Given the description of an element on the screen output the (x, y) to click on. 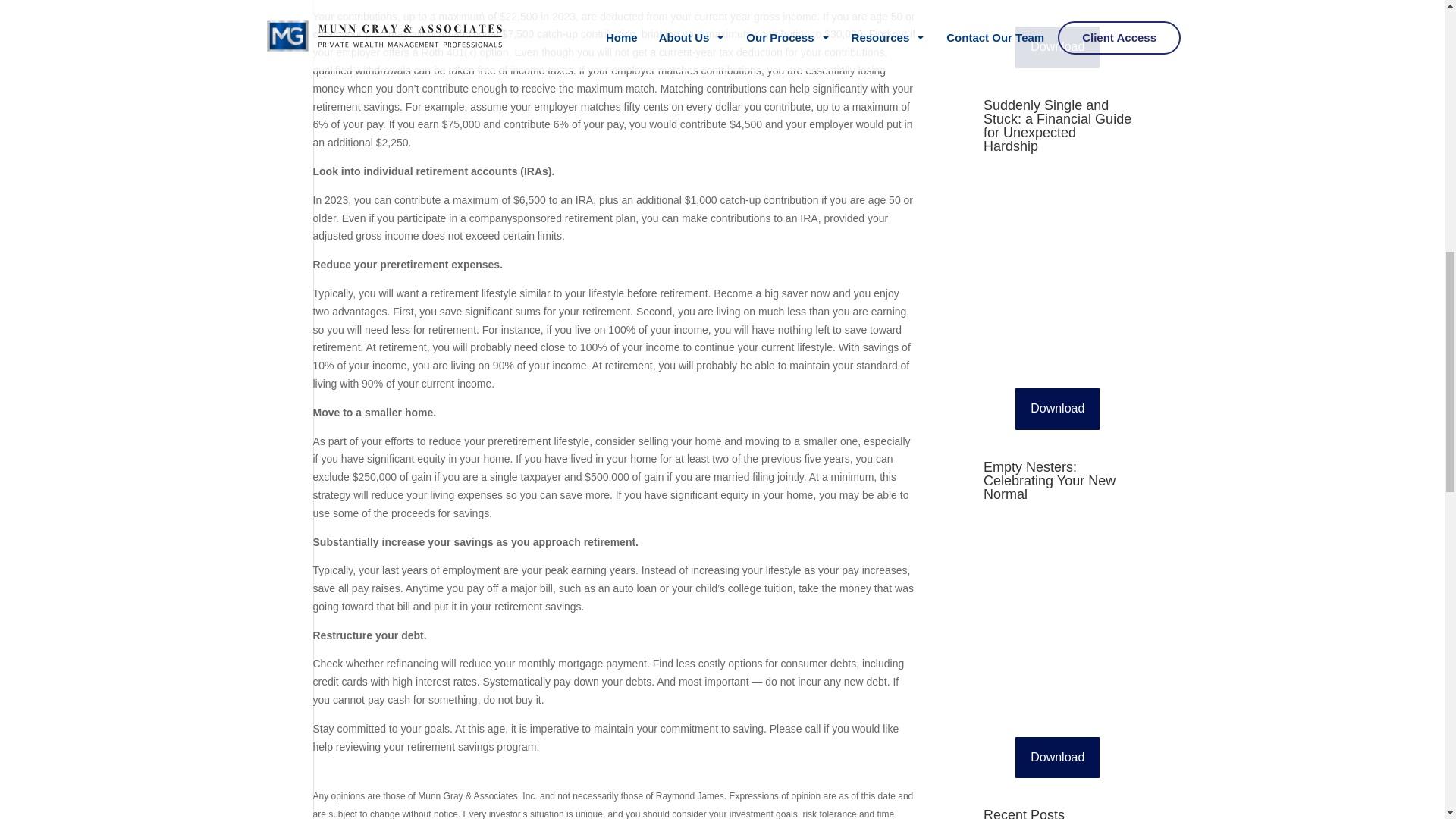
Download (1057, 408)
Download (1057, 46)
Download (1057, 757)
